Given the description of an element on the screen output the (x, y) to click on. 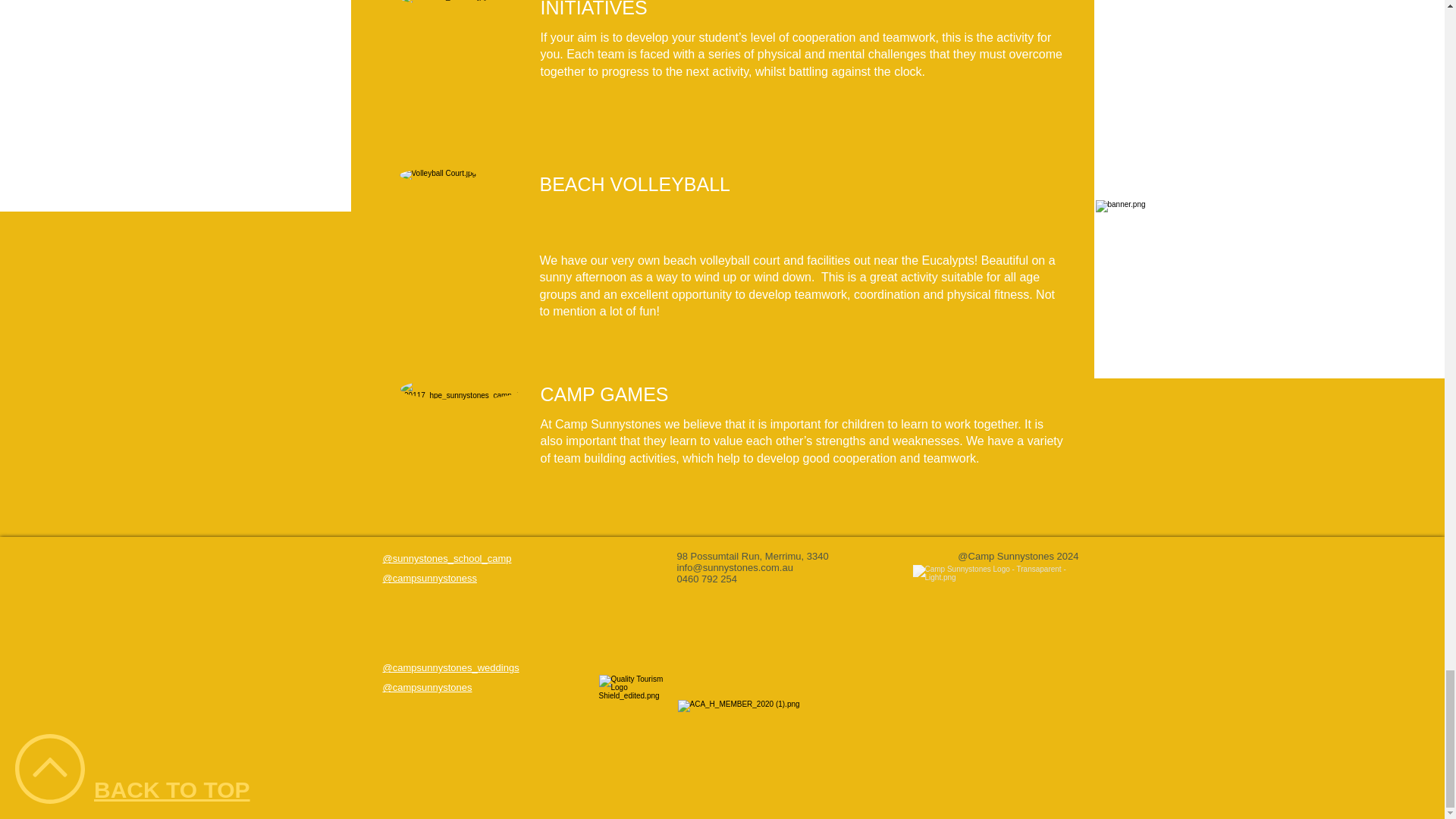
Canoeing.jpeg (458, 228)
Canoeing.jpeg (459, 438)
Canoeing.jpeg (459, 56)
